Given the description of an element on the screen output the (x, y) to click on. 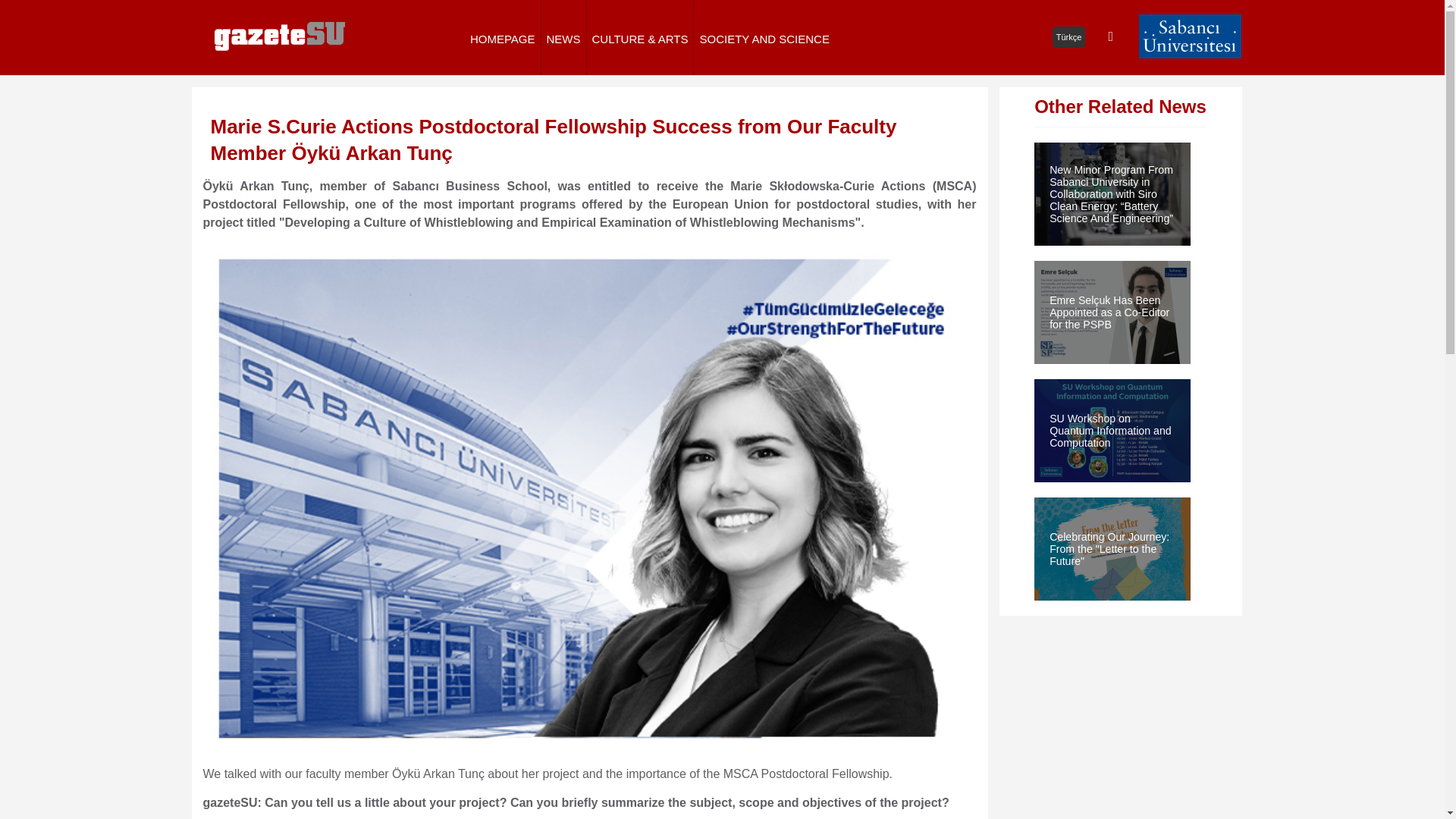
SOCIETY AND SCIENCE (764, 37)
HOMEPAGE (502, 37)
Celebrating Our Journey: From the "Letter to the Future" (1112, 548)
SU Workshop on Quantum Information and Computation (1112, 430)
